Given the description of an element on the screen output the (x, y) to click on. 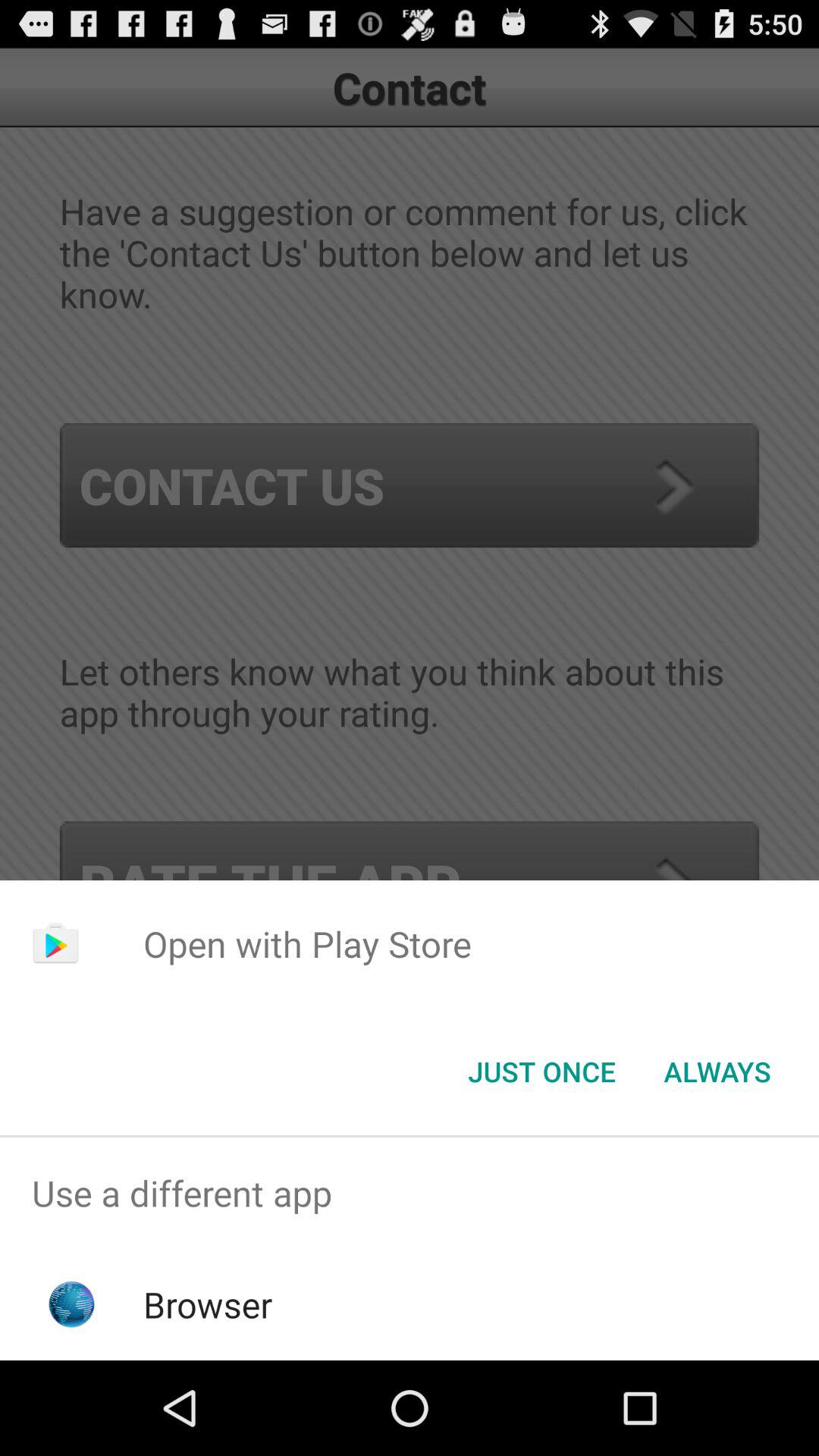
launch the item to the left of the always (541, 1071)
